Given the description of an element on the screen output the (x, y) to click on. 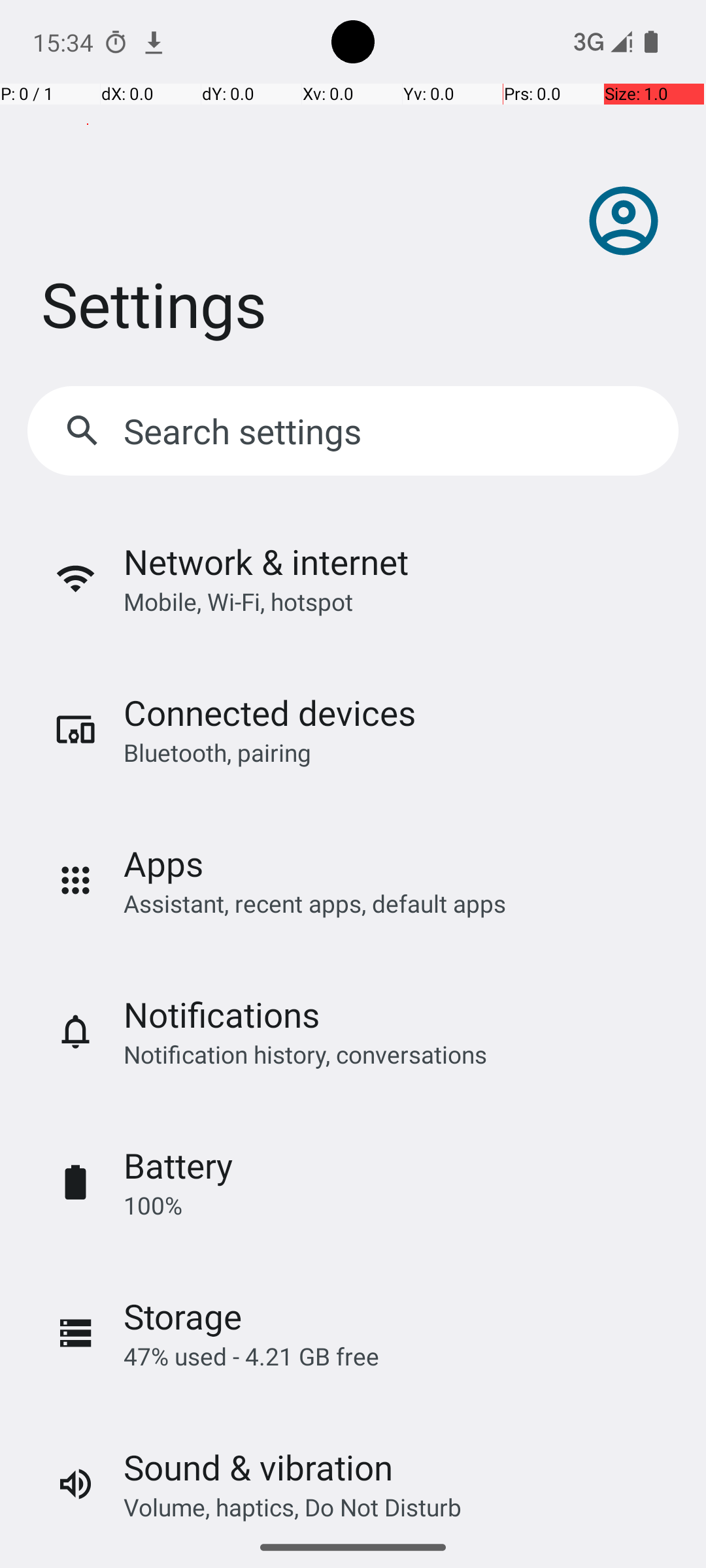
47% used - 4.21 GB free Element type: android.widget.TextView (251, 1355)
